Given the description of an element on the screen output the (x, y) to click on. 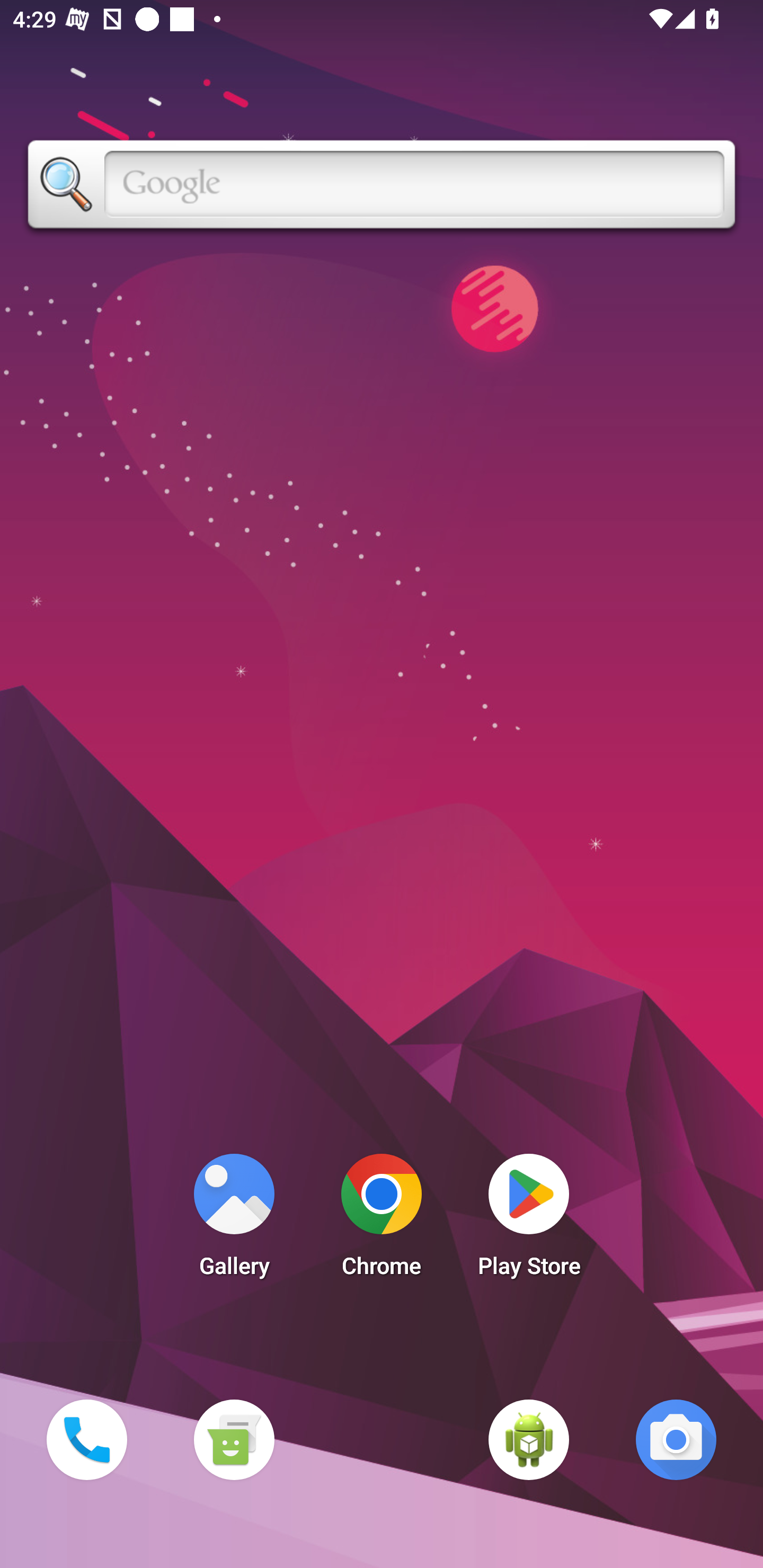
Gallery (233, 1220)
Chrome (381, 1220)
Play Store (528, 1220)
Phone (86, 1439)
Messaging (233, 1439)
WebView Browser Tester (528, 1439)
Camera (676, 1439)
